Given the description of an element on the screen output the (x, y) to click on. 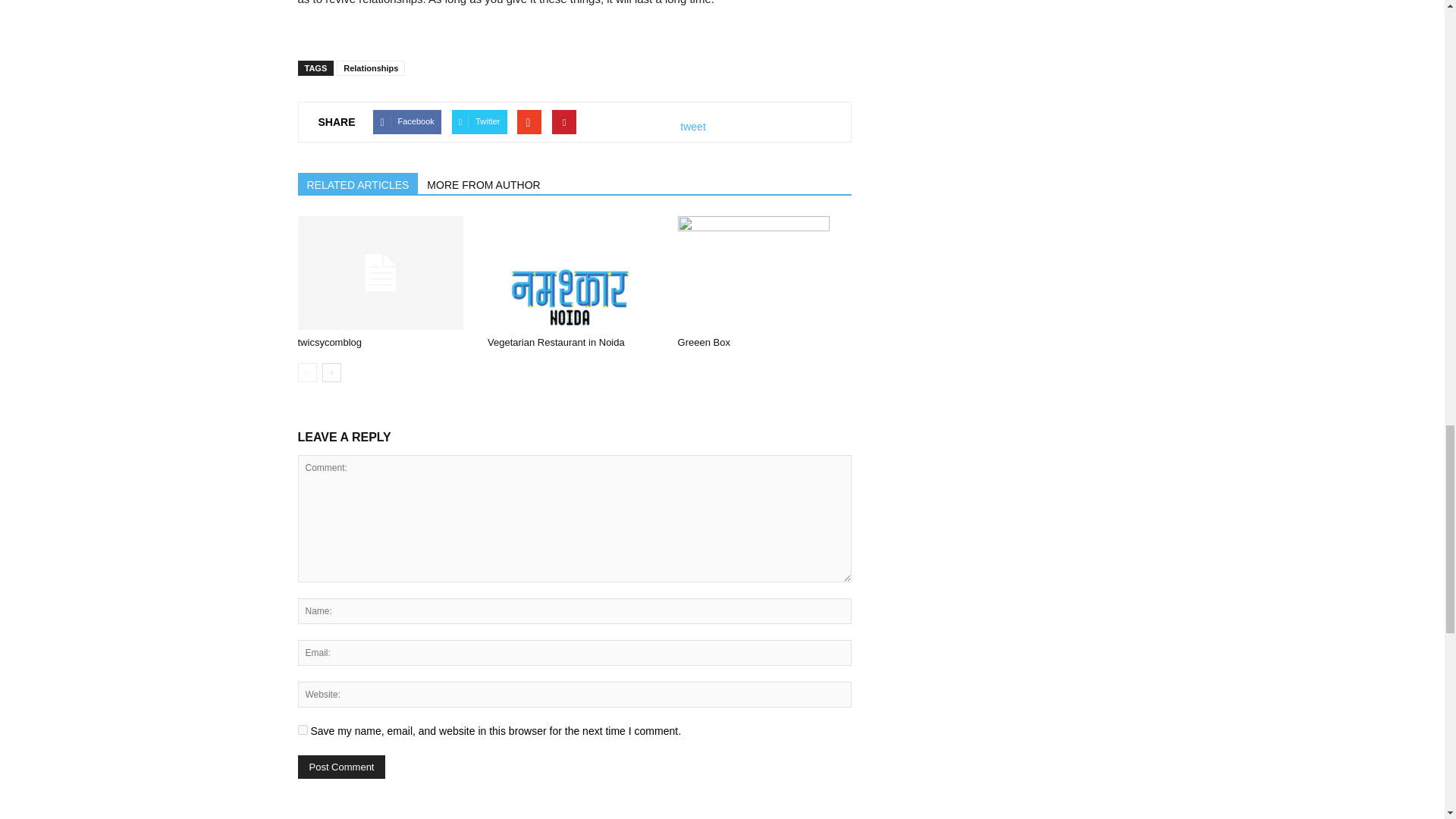
yes (302, 729)
twicsycomblog (329, 342)
Vegetarian Restaurant in Noida (574, 273)
twicsycomblog (384, 273)
Post Comment (341, 766)
